Given the description of an element on the screen output the (x, y) to click on. 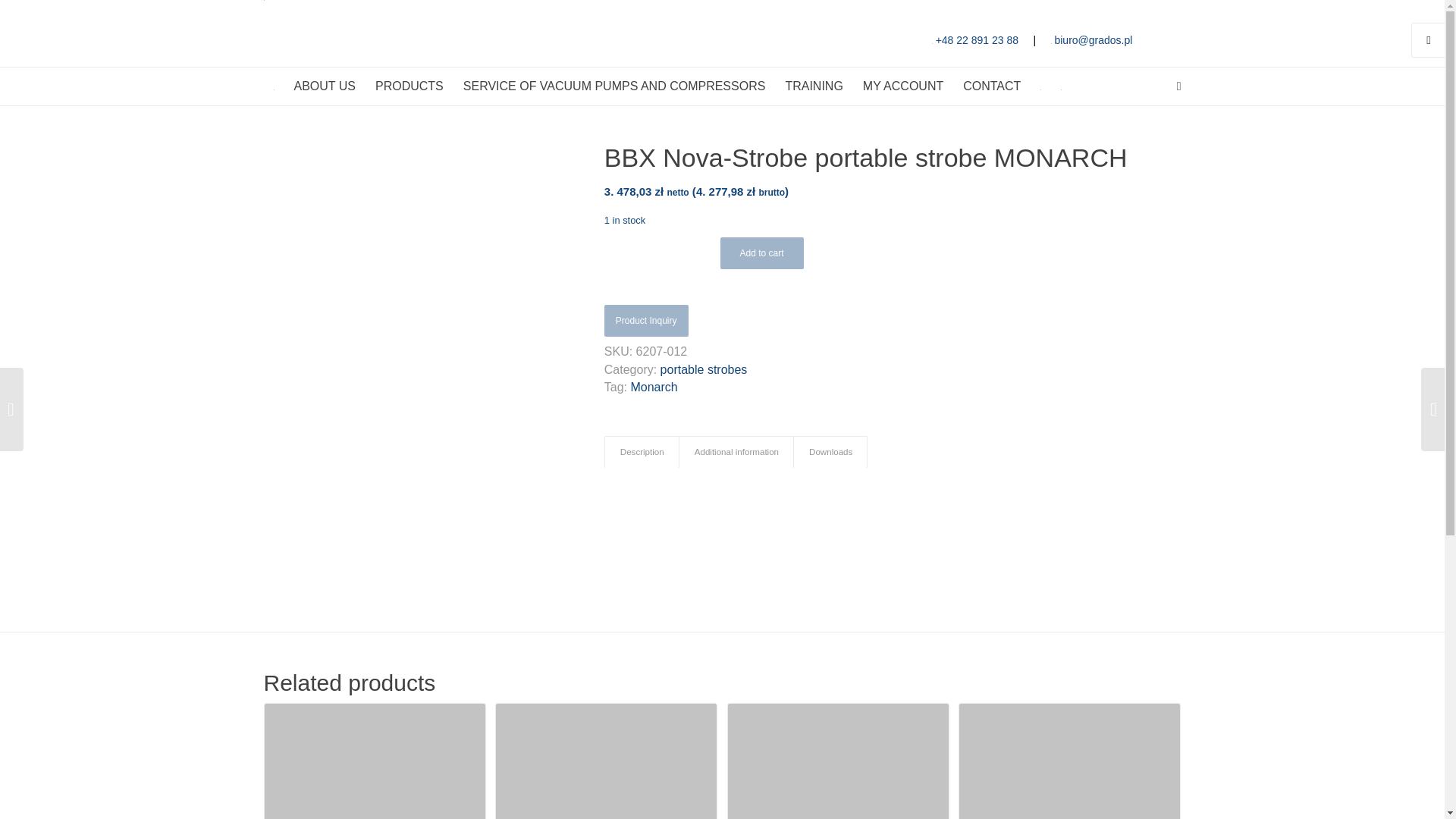
portable strobes (704, 369)
Description (641, 451)
Downloads (830, 451)
PRODUCTS (408, 86)
Monarch (653, 386)
ABOUT US (324, 86)
SERVICE OF VACUUM PUMPS AND COMPRESSORS (614, 86)
CONTACT (991, 86)
Add to cart (761, 253)
